Given the description of an element on the screen output the (x, y) to click on. 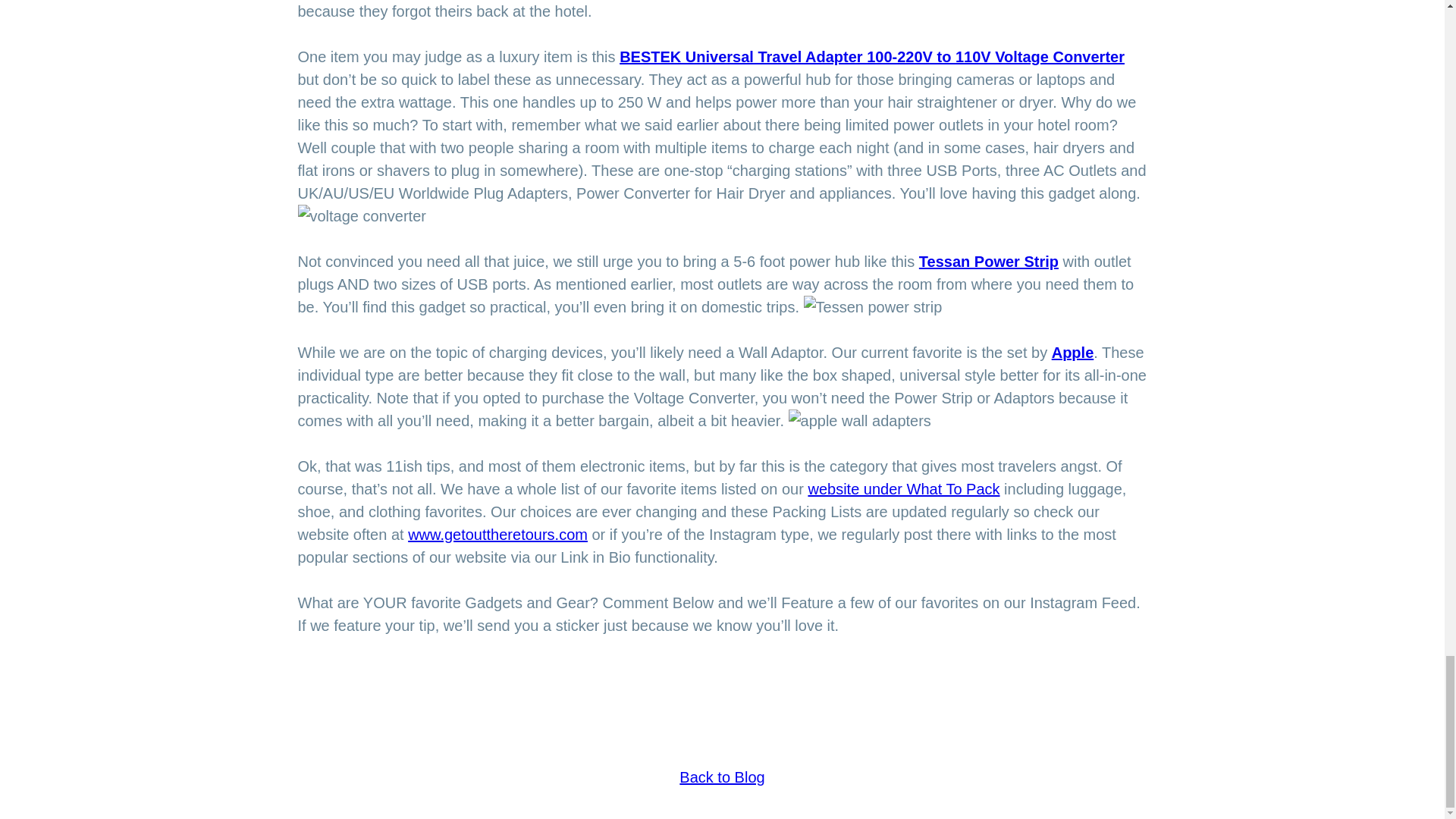
Apple (1072, 352)
Back to Blog (721, 777)
website under What To Pack (903, 488)
www.getouttheretours.com (497, 534)
Tessan Power Strip (988, 261)
